Given the description of an element on the screen output the (x, y) to click on. 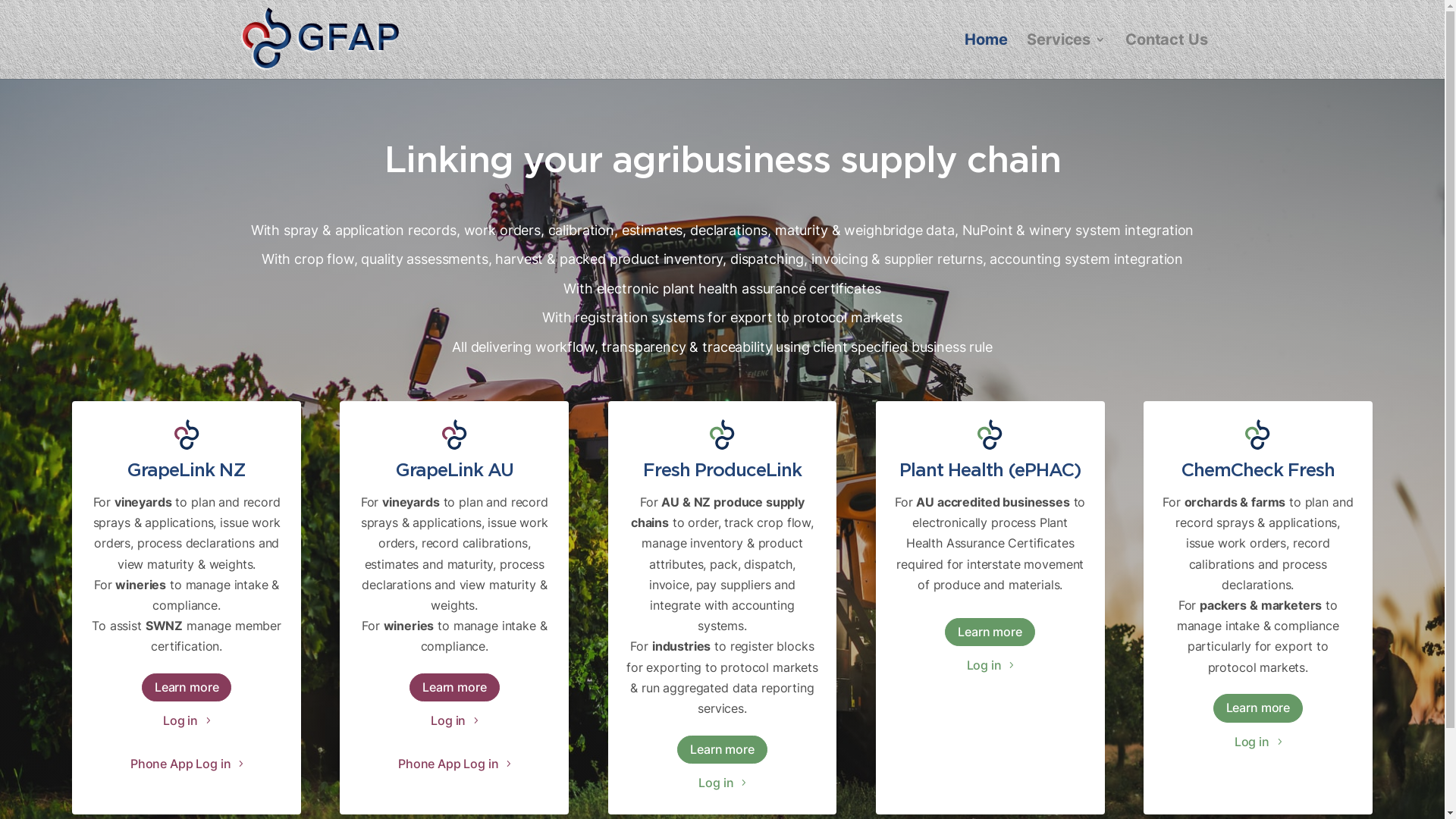
Learn more Element type: text (454, 687)
Home Element type: text (985, 56)
Learn more Element type: text (186, 687)
Phone App Log in Element type: text (186, 763)
Phone App Log in Element type: text (454, 763)
Learn more Element type: text (722, 749)
Log in Element type: text (453, 720)
Learn more Element type: text (989, 632)
Log in Element type: text (990, 665)
Log in Element type: text (186, 720)
Services Element type: text (1065, 56)
Log in Element type: text (1257, 741)
Learn more Element type: text (1258, 707)
Log in Element type: text (721, 782)
Contact Us Element type: text (1166, 56)
